Given the description of an element on the screen output the (x, y) to click on. 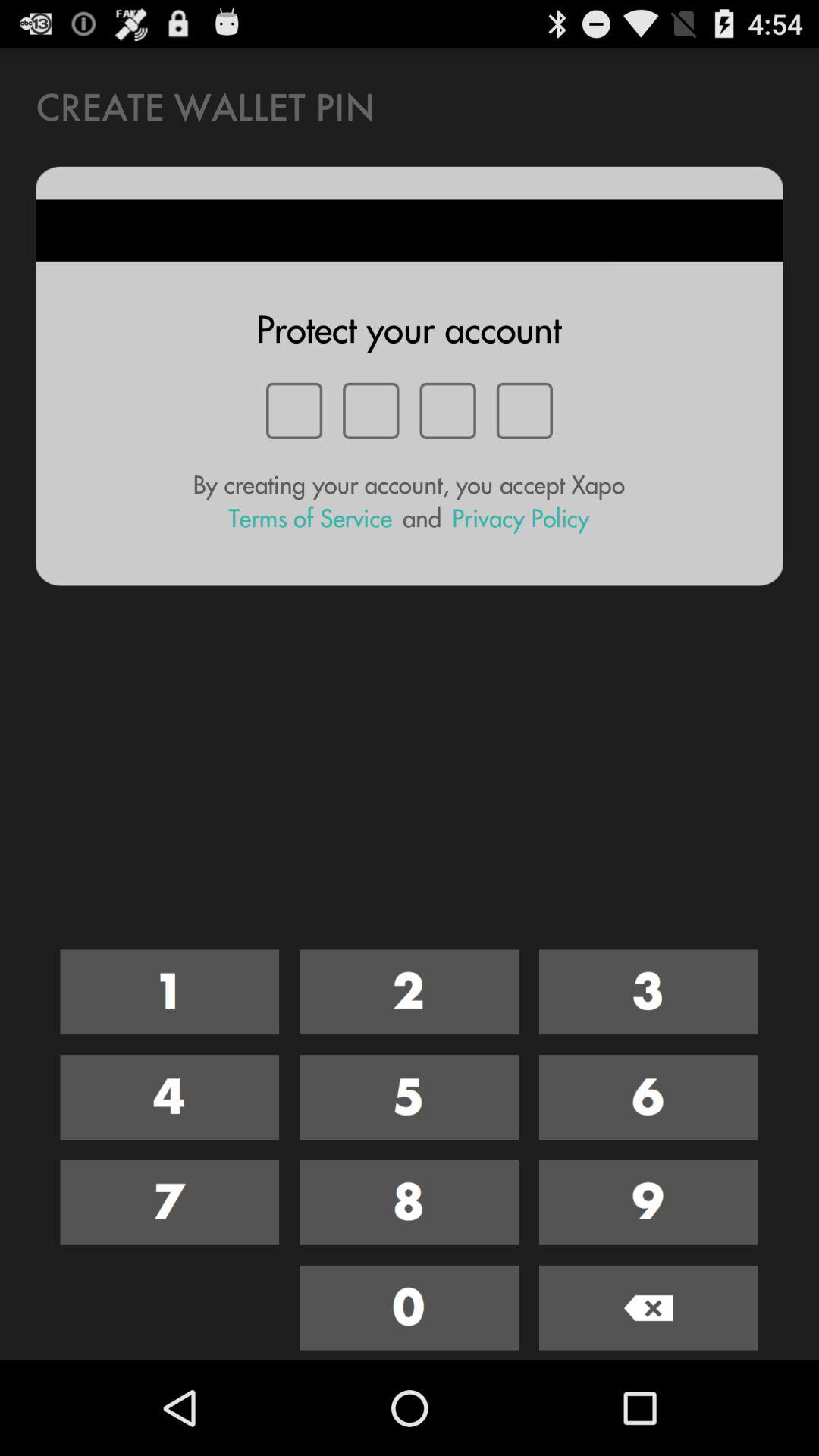
number 3 (648, 991)
